Given the description of an element on the screen output the (x, y) to click on. 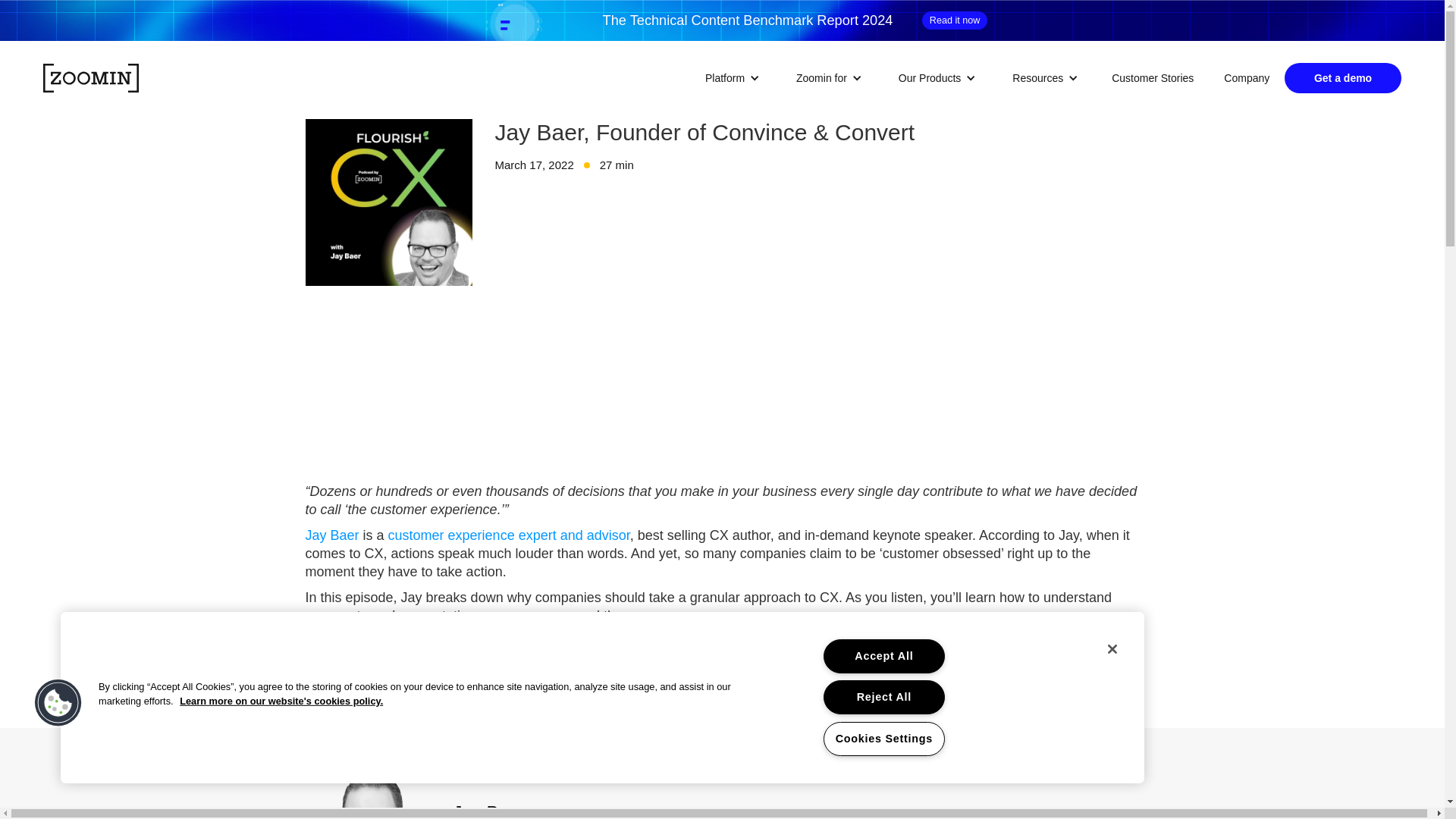
Customer Stories (1152, 77)
Subscribe (596, 712)
Jay Baer (331, 534)
Guests (404, 712)
Company (1246, 77)
Cookies Button (57, 703)
customer experience expert and advisor (509, 534)
Embed Player (721, 382)
Transcript (494, 712)
Get a demo (1342, 78)
Notes (323, 712)
Read it now (954, 20)
